Given the description of an element on the screen output the (x, y) to click on. 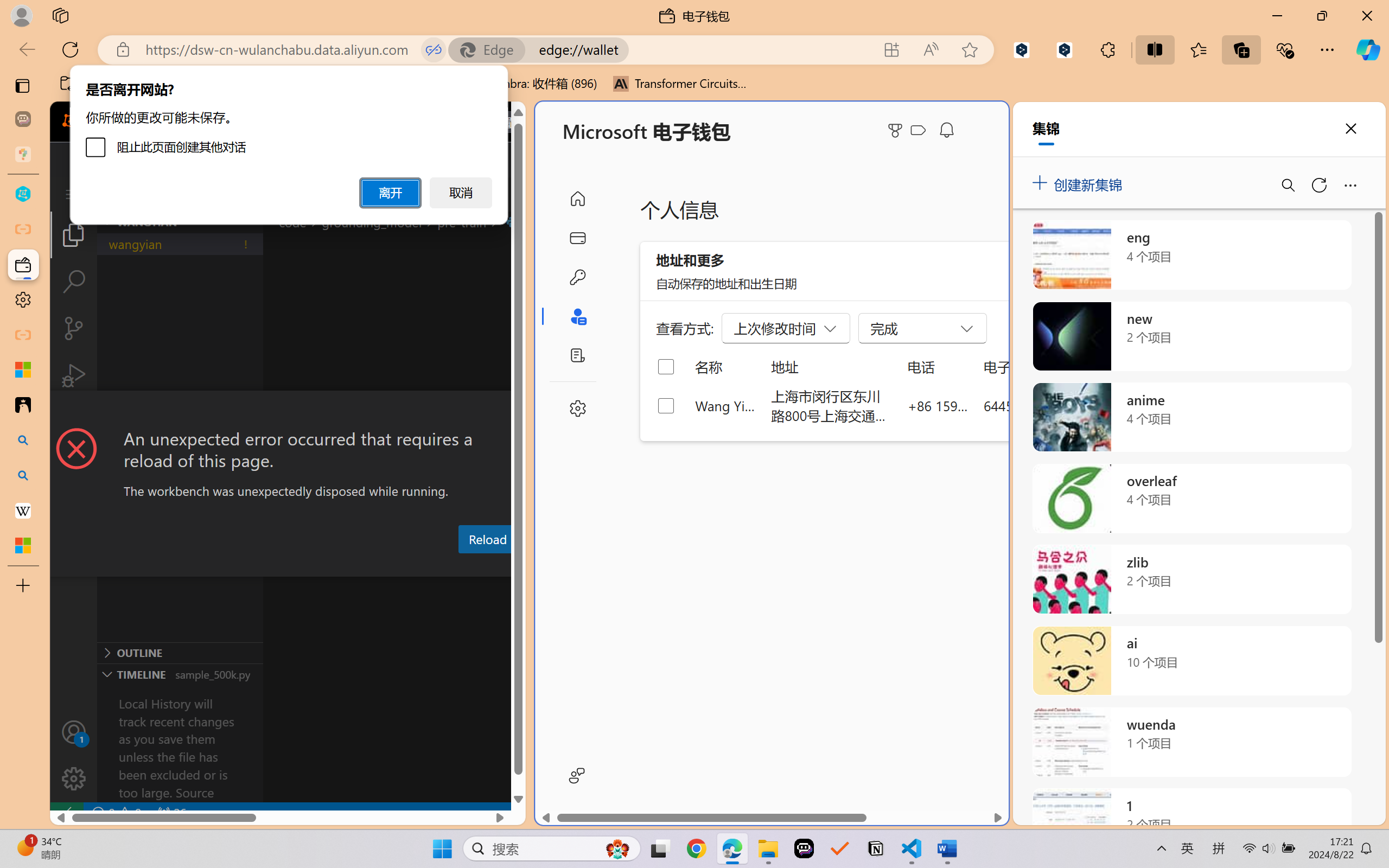
Google Chrome (696, 848)
644553698@qq.com (1043, 405)
Output (Ctrl+Shift+U) (377, 565)
remote (66, 812)
